Given the description of an element on the screen output the (x, y) to click on. 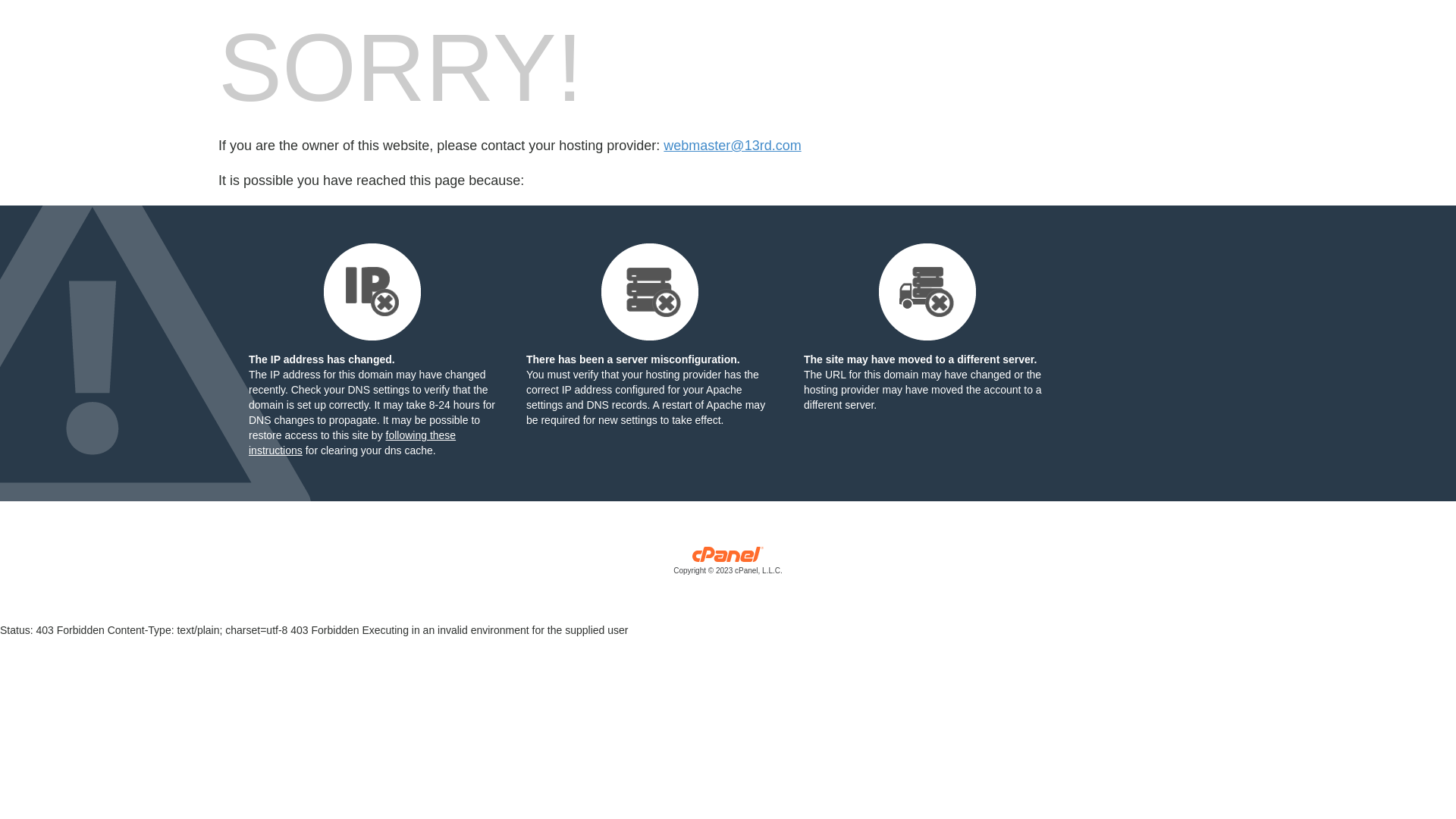
webmaster@13rd.com Element type: text (731, 145)
following these instructions Element type: text (351, 442)
